Given the description of an element on the screen output the (x, y) to click on. 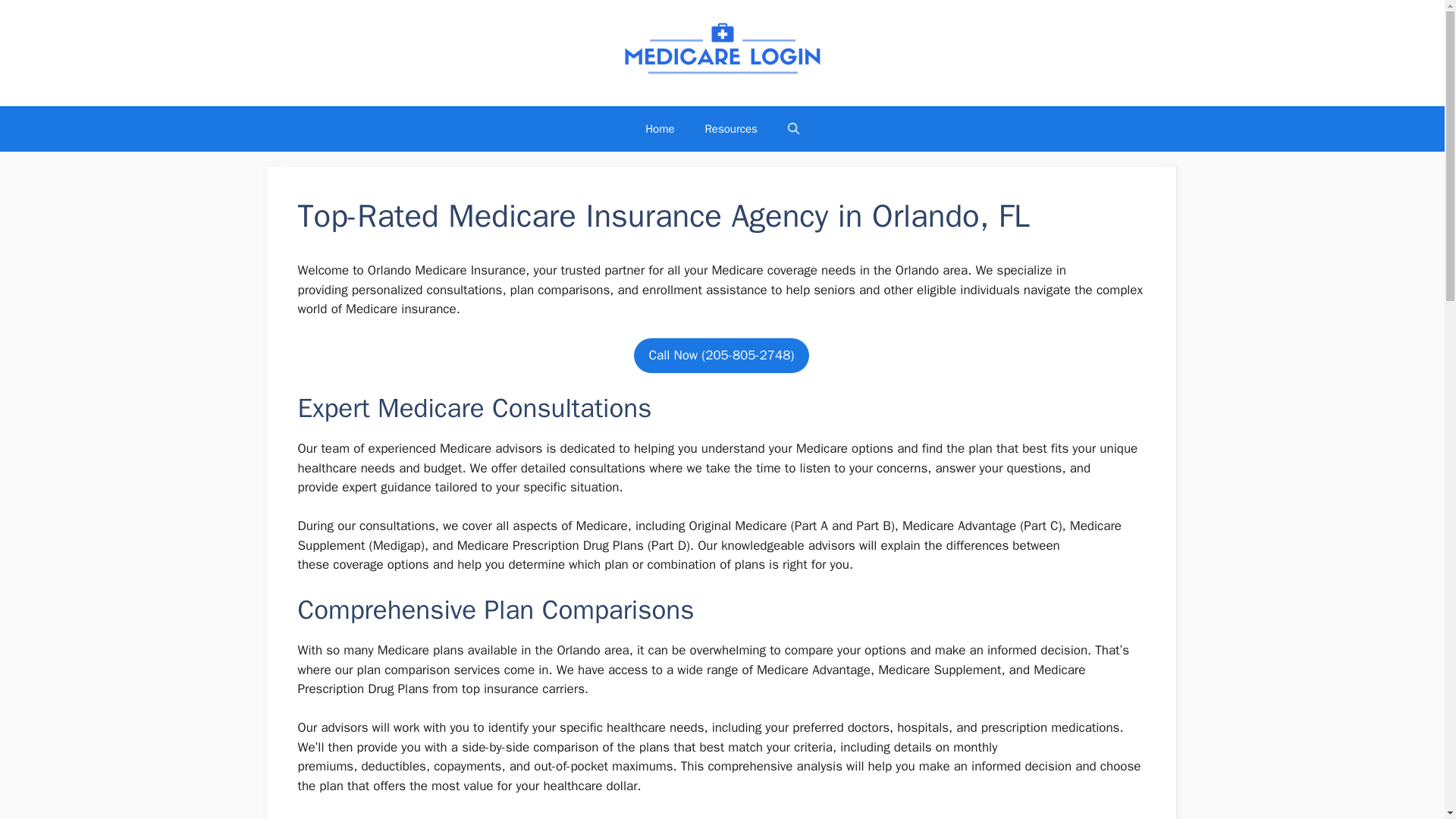
Home (659, 128)
Resources (731, 128)
